Given the description of an element on the screen output the (x, y) to click on. 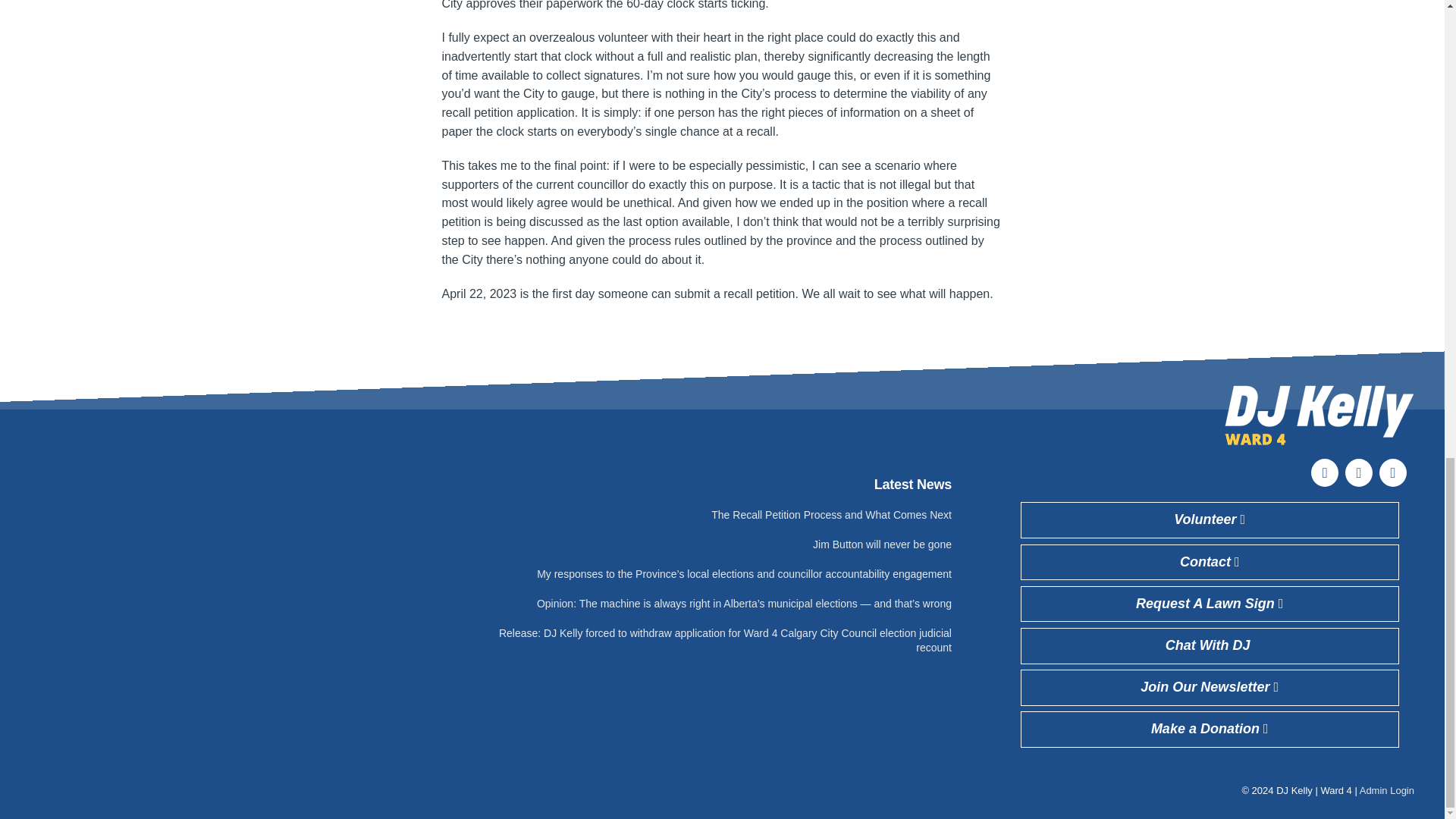
Request A Lawn Sign (1209, 604)
Jim Button will never be gone (882, 544)
Chat With DJ (1209, 646)
Join Our Newsletter (1209, 687)
Contact (1209, 562)
Make a Donation (1209, 729)
Admin Login (1386, 790)
Volunteer (1209, 520)
The Recall Petition Process and What Comes Next (831, 514)
